Given the description of an element on the screen output the (x, y) to click on. 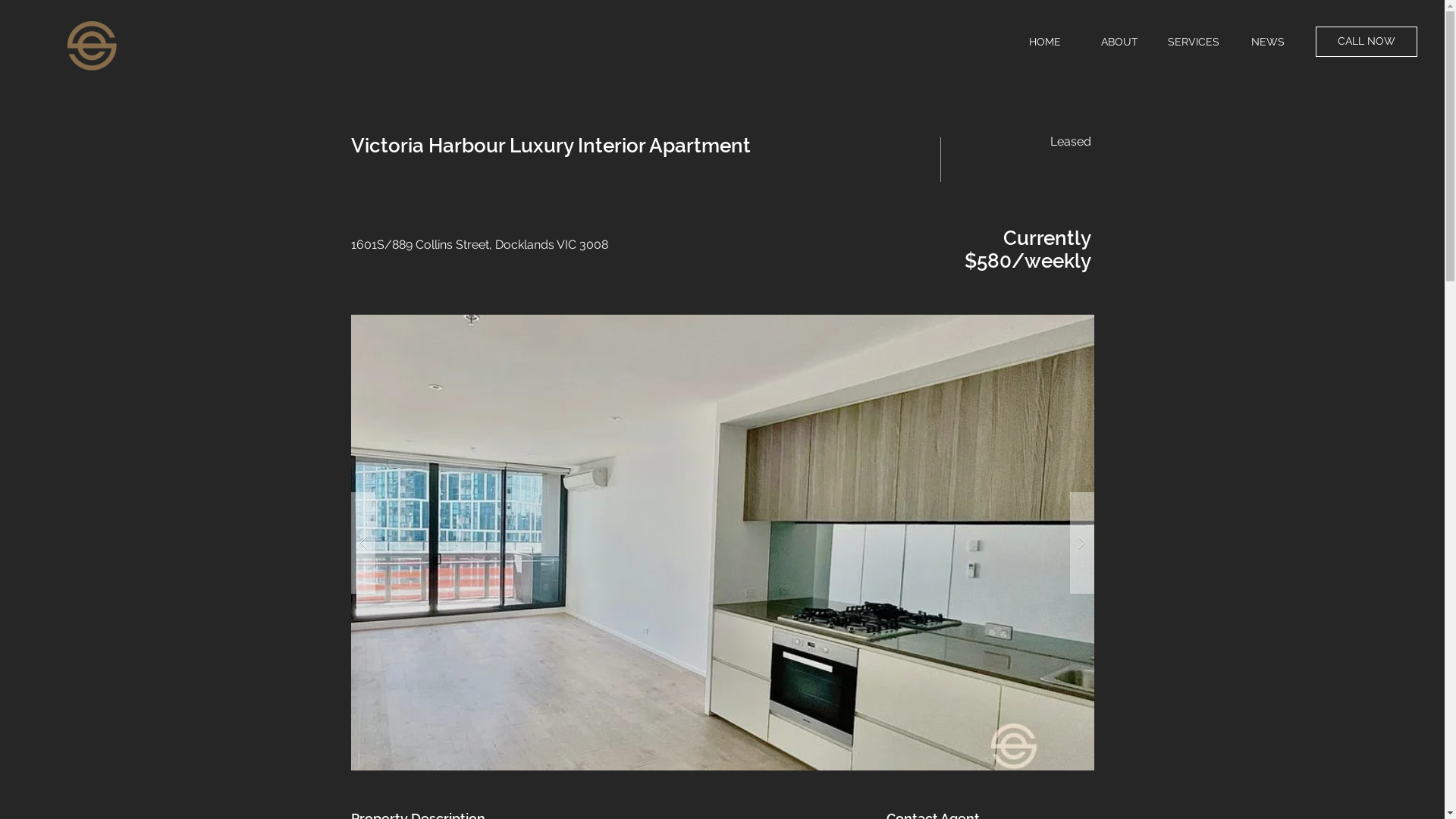
NEWS Element type: text (1267, 41)
ABOUT Element type: text (1119, 41)
SERVICES Element type: text (1193, 41)
CALL NOW Element type: text (1366, 41)
HOME Element type: text (1044, 41)
